Given the description of an element on the screen output the (x, y) to click on. 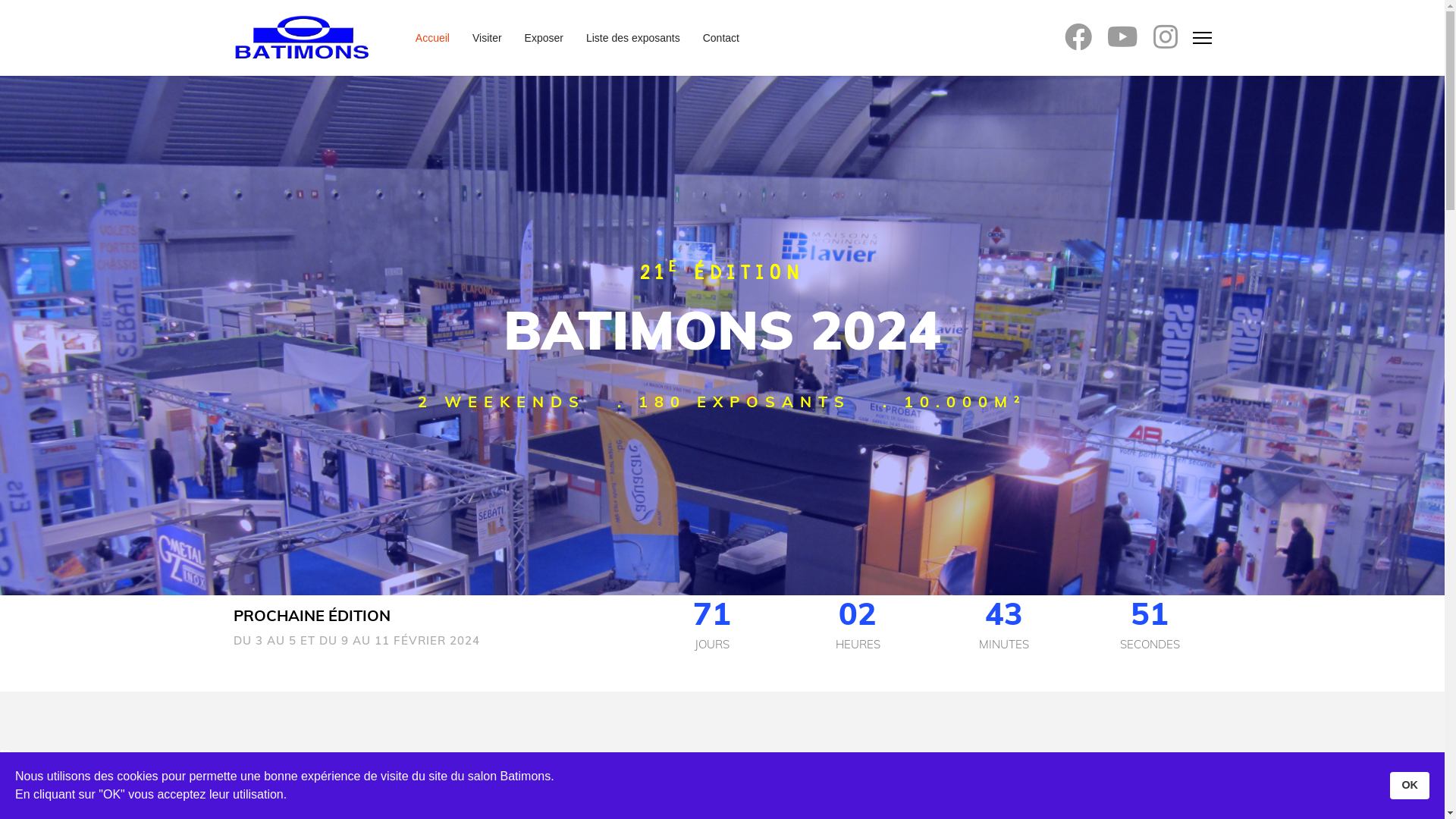
Menu Element type: hover (1201, 37)
Contact Element type: text (715, 37)
Liste des exposants Element type: text (632, 37)
OK Element type: text (1409, 785)
Accueil Element type: text (432, 37)
Visiter Element type: text (487, 37)
Exposer Element type: text (543, 37)
